Given the description of an element on the screen output the (x, y) to click on. 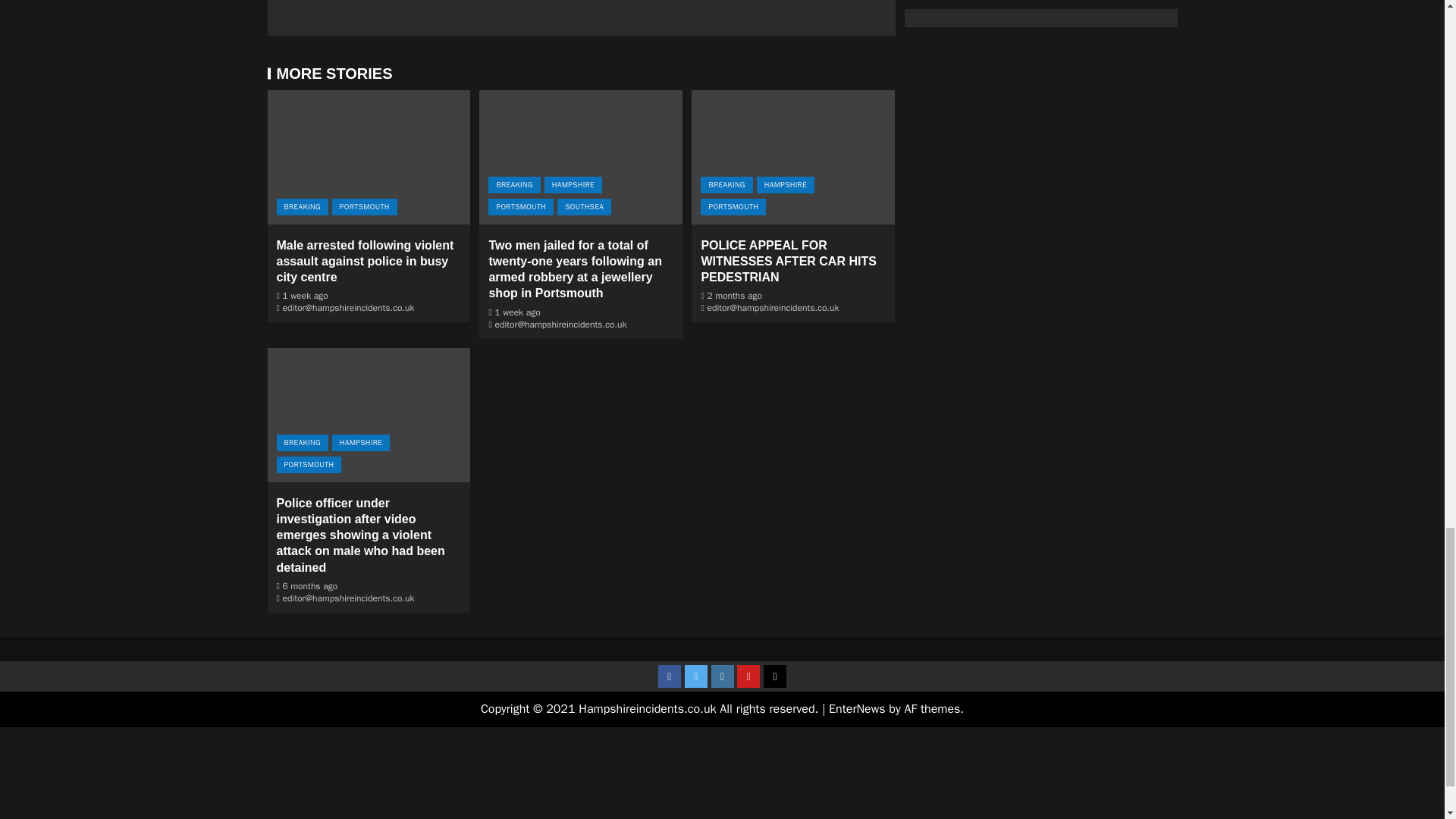
Advertisement (580, 10)
HAMPSHIRE (573, 184)
PORTSMOUTH (364, 207)
BREAKING (513, 184)
BREAKING (301, 207)
PORTSMOUTH (520, 207)
Advertisement (721, 773)
